Given the description of an element on the screen output the (x, y) to click on. 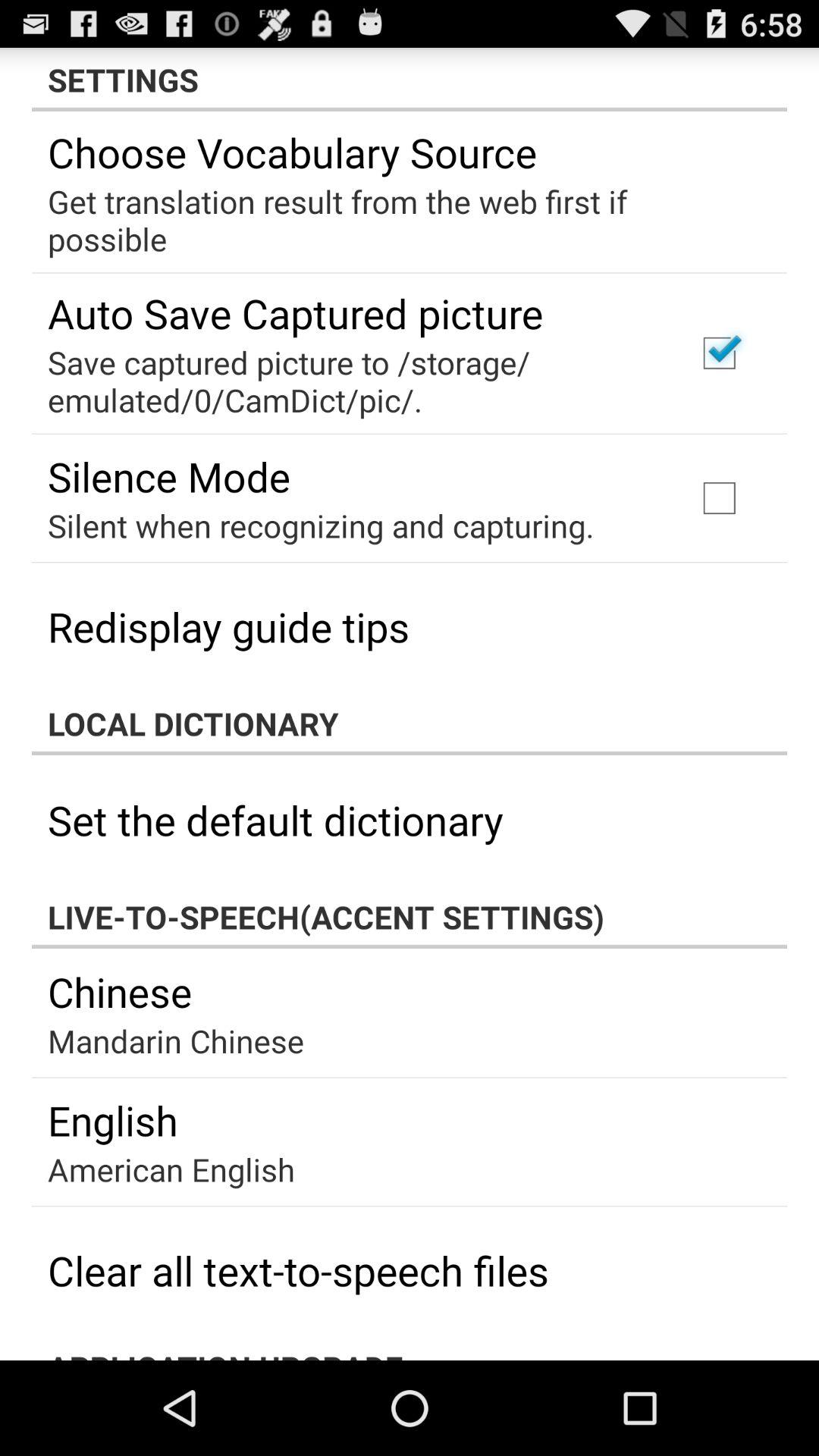
select icon above redisplay guide tips (320, 525)
